Given the description of an element on the screen output the (x, y) to click on. 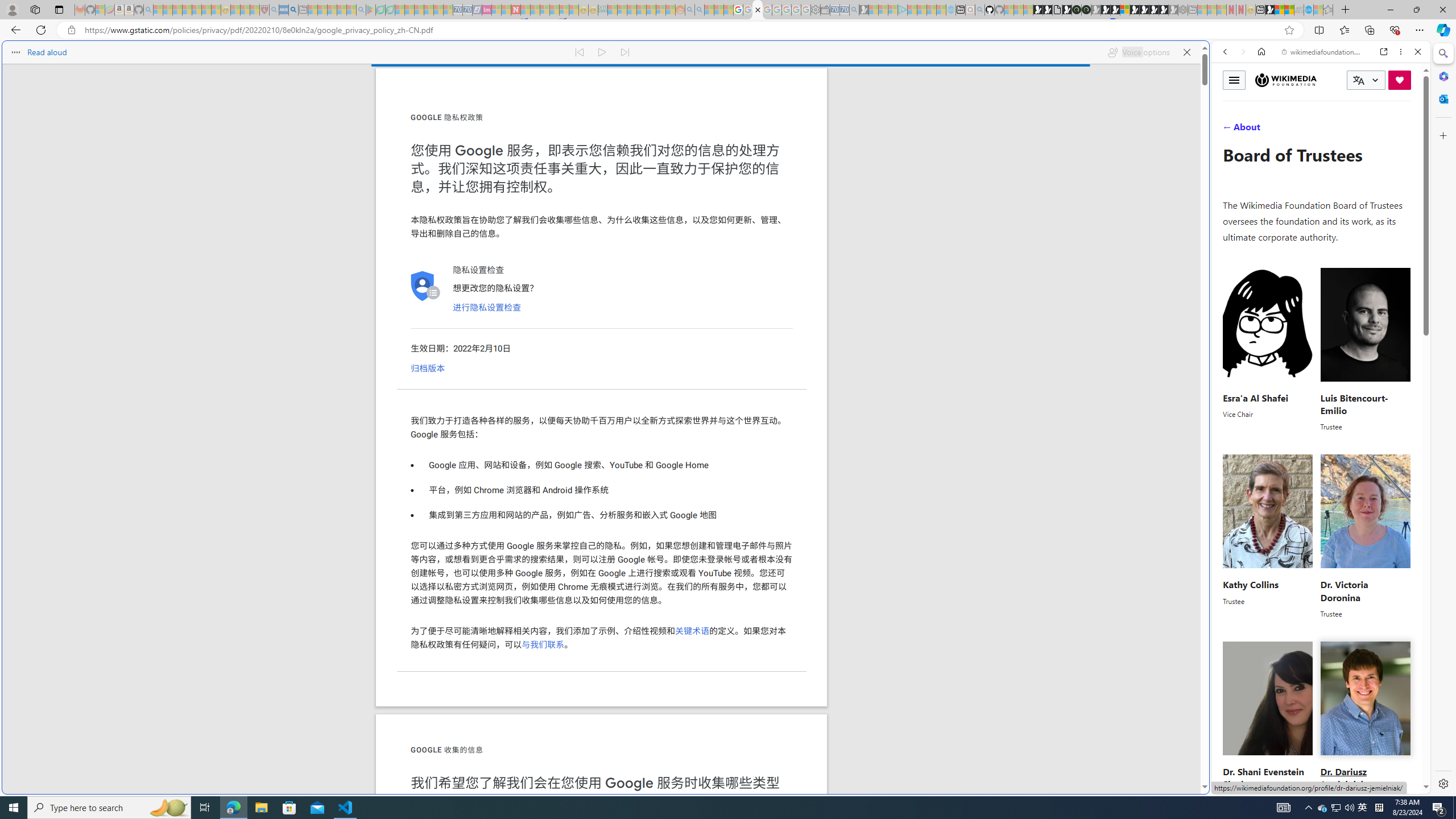
Toggle menu (1233, 80)
Dr. Victoria DoroninaTrustee (1365, 536)
